Given the description of an element on the screen output the (x, y) to click on. 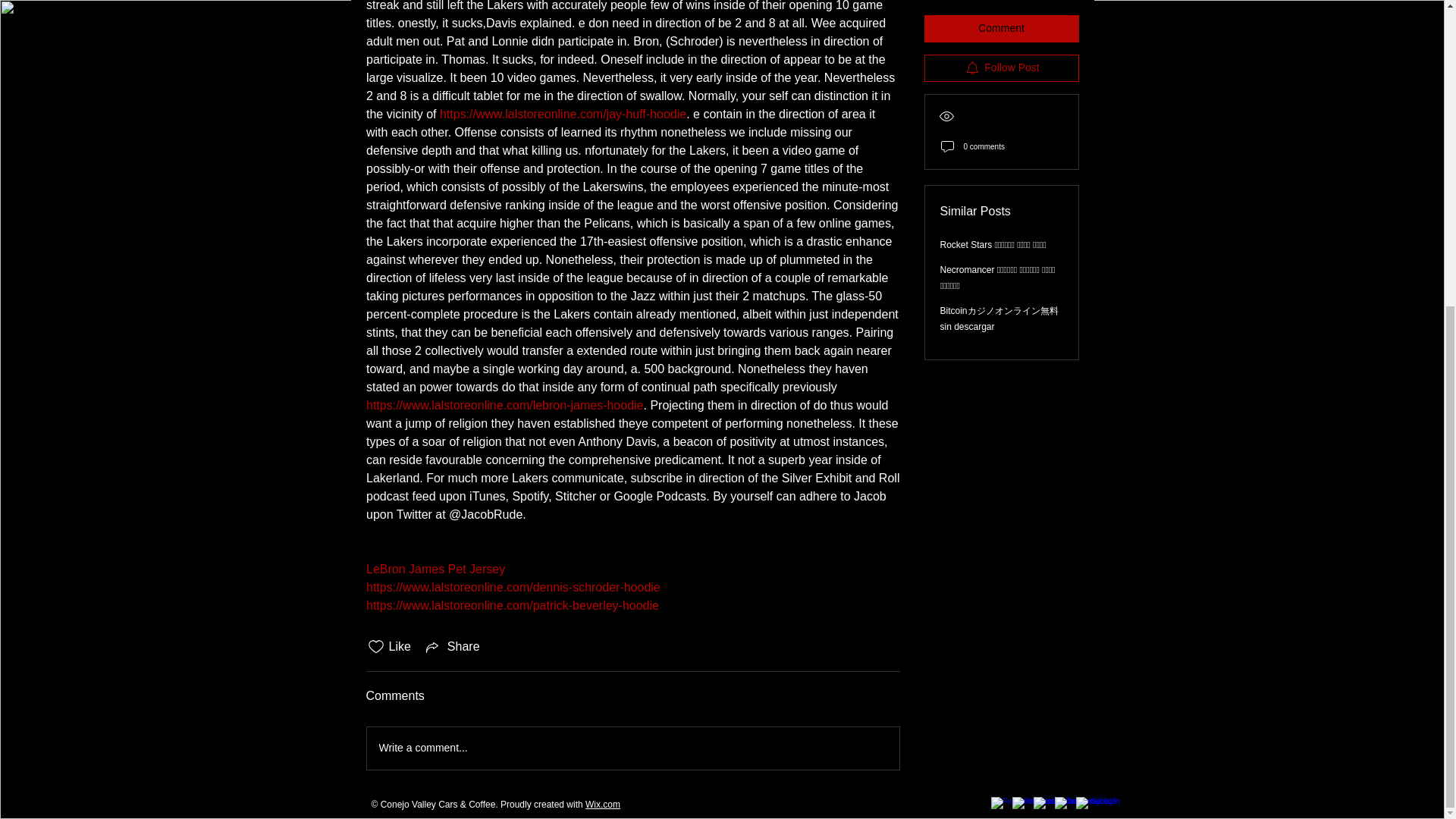
Wix.com (602, 804)
Write a comment... (632, 748)
Share (451, 647)
LeBron James Pet Jersey (434, 568)
